Given the description of an element on the screen output the (x, y) to click on. 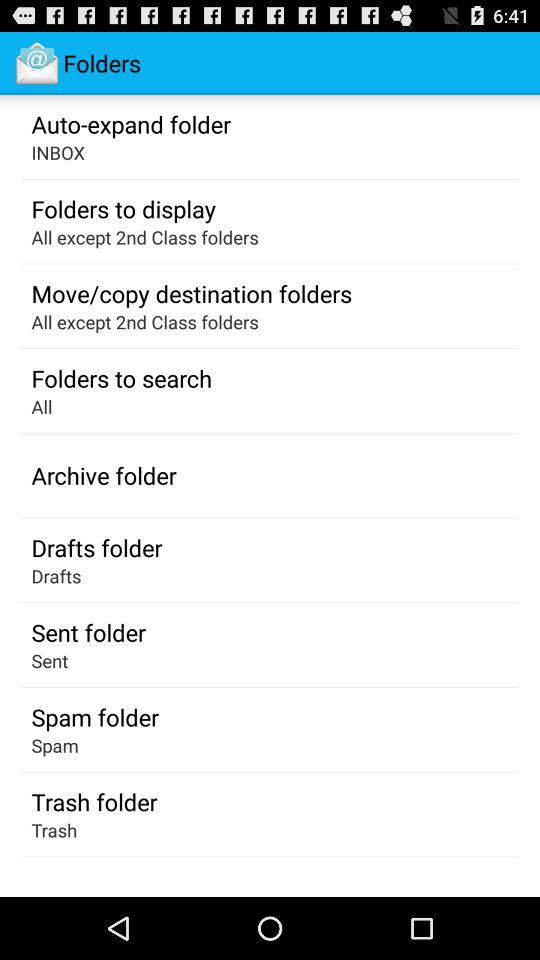
press app below the drafts (88, 632)
